Given the description of an element on the screen output the (x, y) to click on. 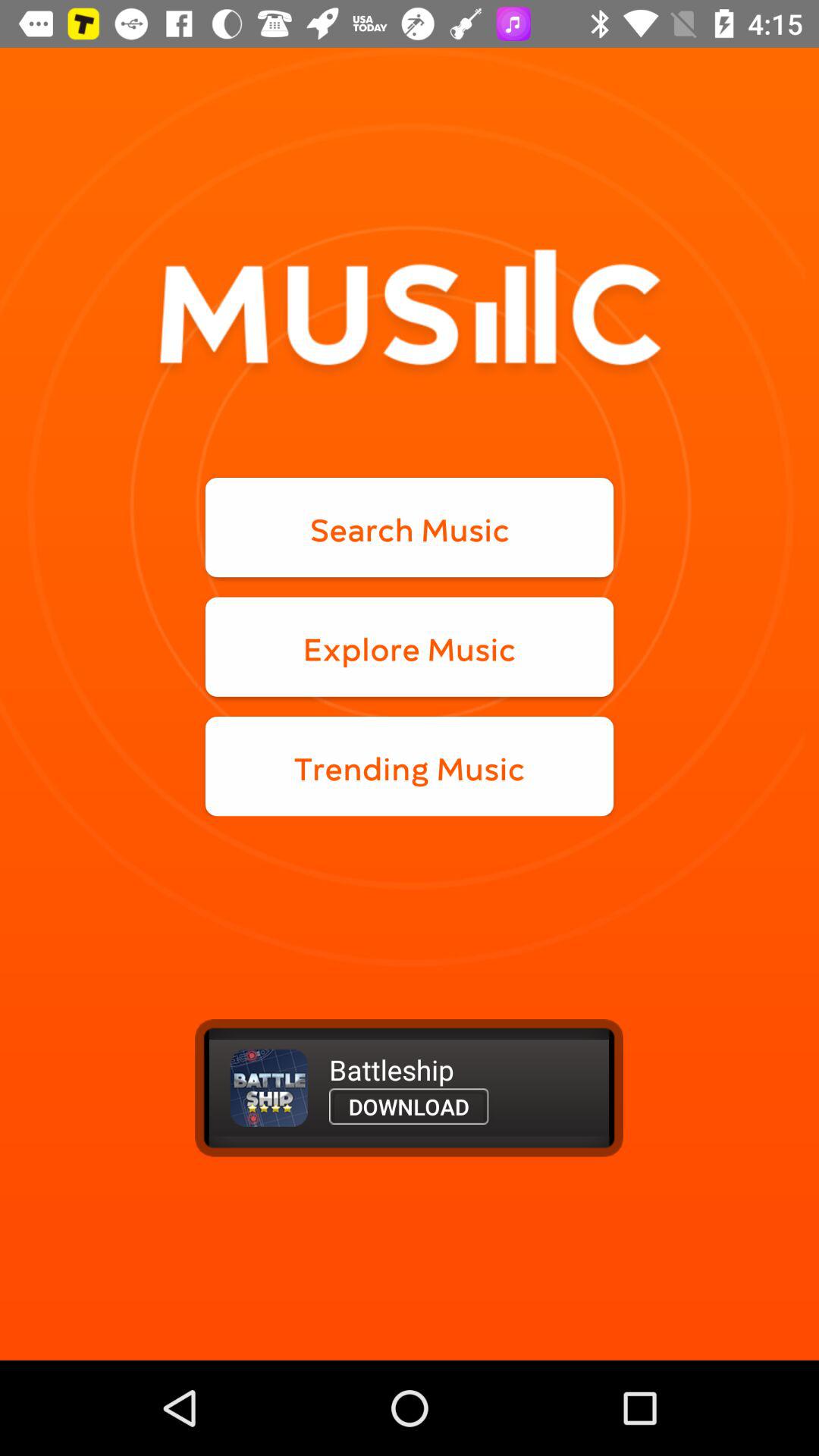
turn on item below the explore music (409, 766)
